Given the description of an element on the screen output the (x, y) to click on. 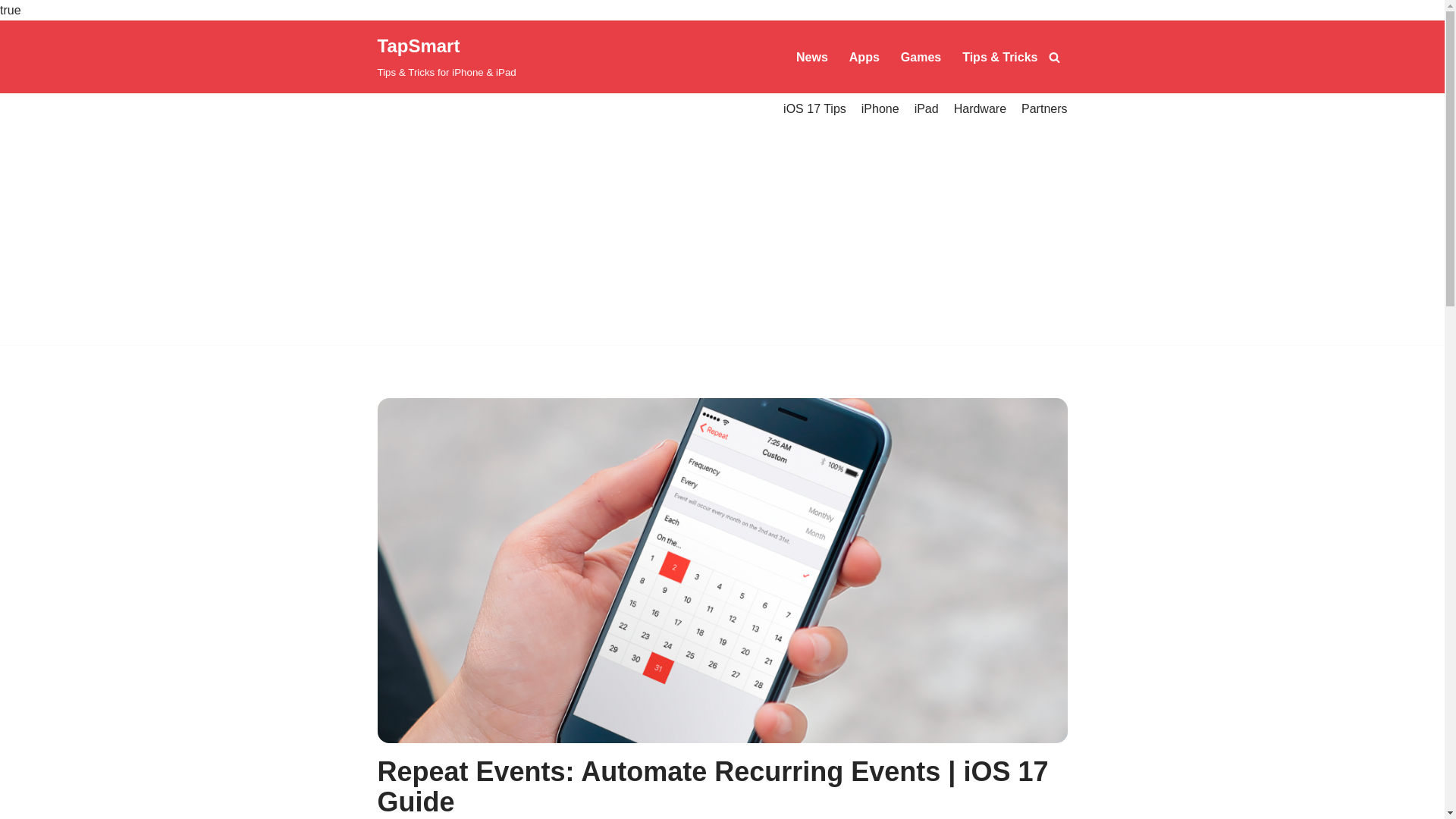
Partners (1044, 108)
News (812, 56)
iPad (926, 108)
iOS 17 Tips (814, 108)
TapSmart (446, 56)
Apps (863, 56)
iPhone (880, 108)
Skip to content (11, 52)
Hardware (979, 108)
Games (920, 56)
